Given the description of an element on the screen output the (x, y) to click on. 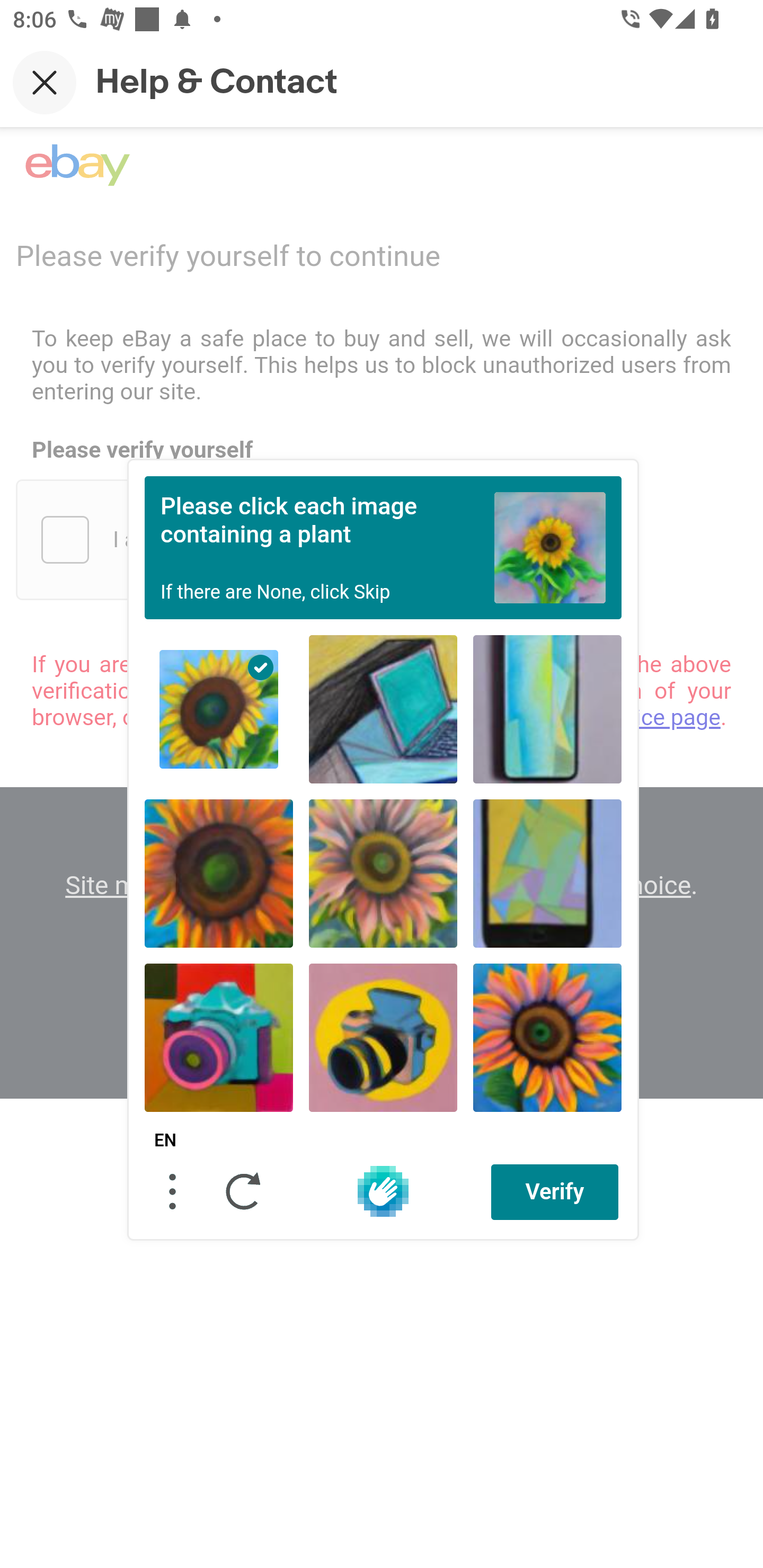
Close (44, 82)
eBay Home (77, 165)
Example image 1 (549, 546)
Challenge Image 1 (218, 708)
Challenge Image 2 (382, 708)
Challenge Image 3 (546, 708)
Challenge Image 4 (218, 873)
Challenge Image 5 (382, 873)
Challenge Image 6 (546, 873)
Challenge Image 7 (218, 1036)
Challenge Image 8 (382, 1036)
Challenge Image 9 (546, 1036)
Select a language English EN English (165, 1140)
English (165, 1140)
Verify Answers (554, 1191)
Refresh Challenge. (243, 1190)
hCaptcha (382, 1190)
